Given the description of an element on the screen output the (x, y) to click on. 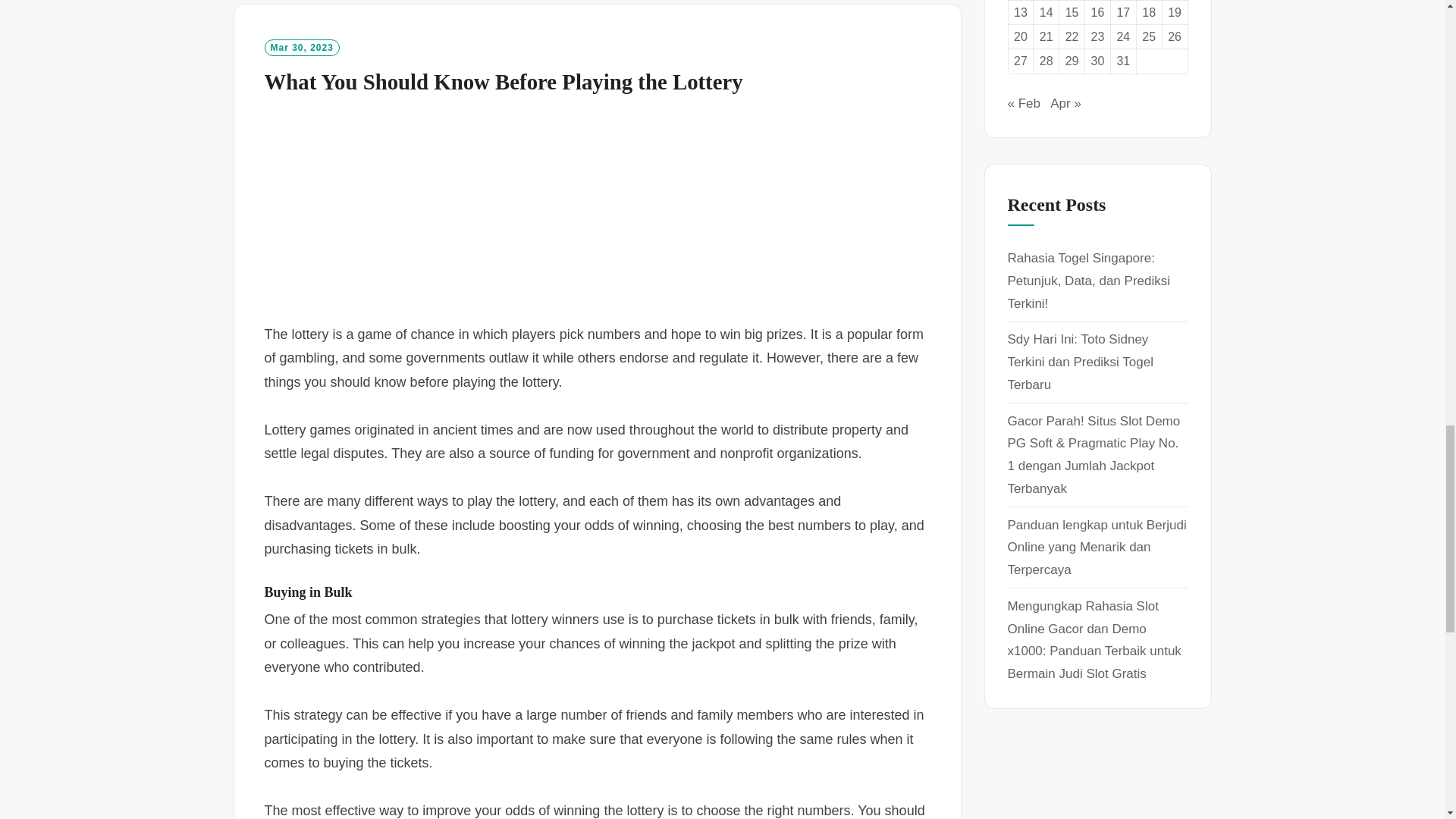
Mar 30, 2023 (301, 47)
What You Should Know Before Playing the Lottery (502, 81)
